Given the description of an element on the screen output the (x, y) to click on. 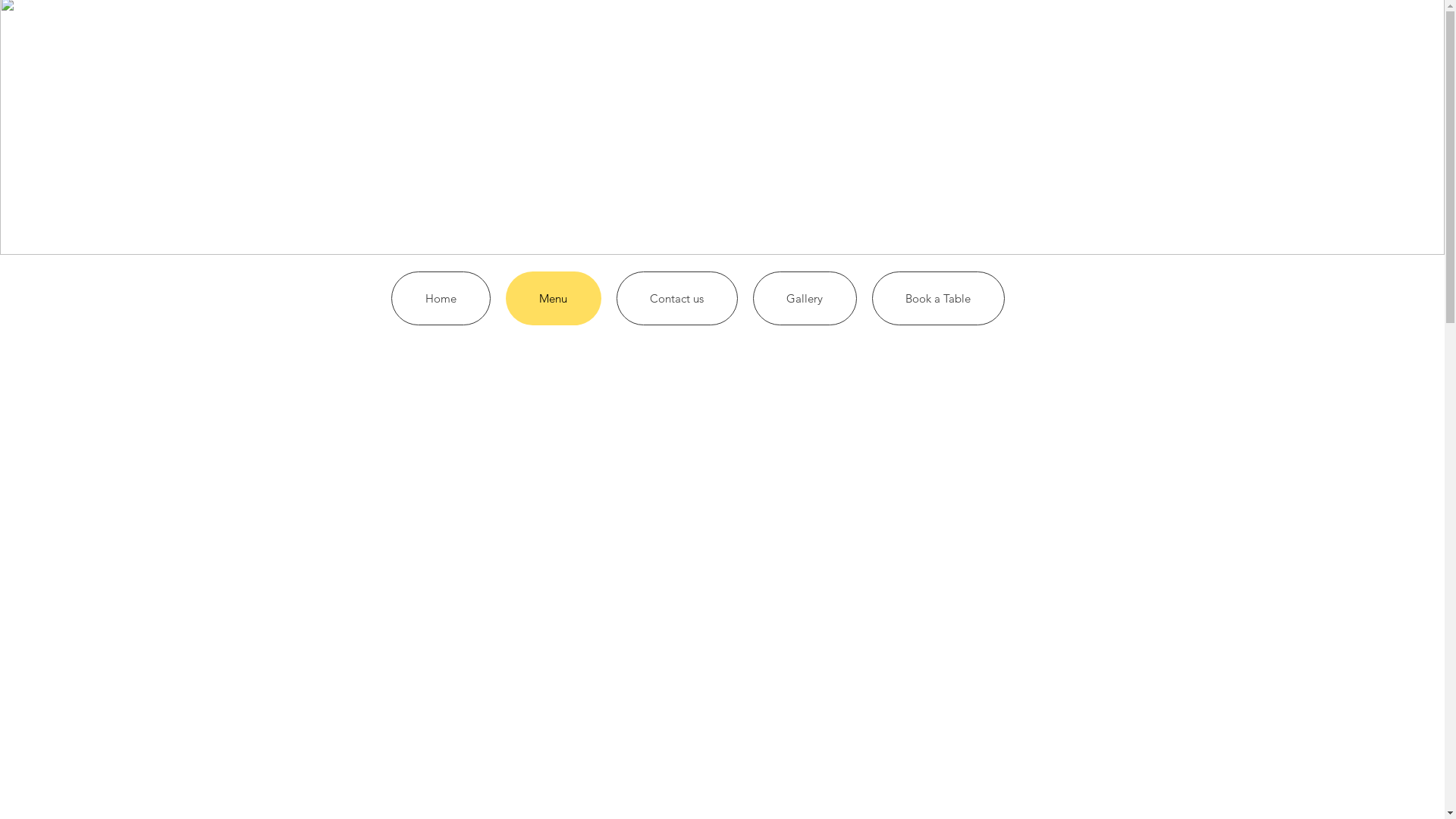
Book a Table Element type: text (938, 298)
Contact us Element type: text (676, 298)
Gallery Element type: text (804, 298)
Menu Element type: text (552, 298)
Home Element type: text (440, 298)
